Given the description of an element on the screen output the (x, y) to click on. 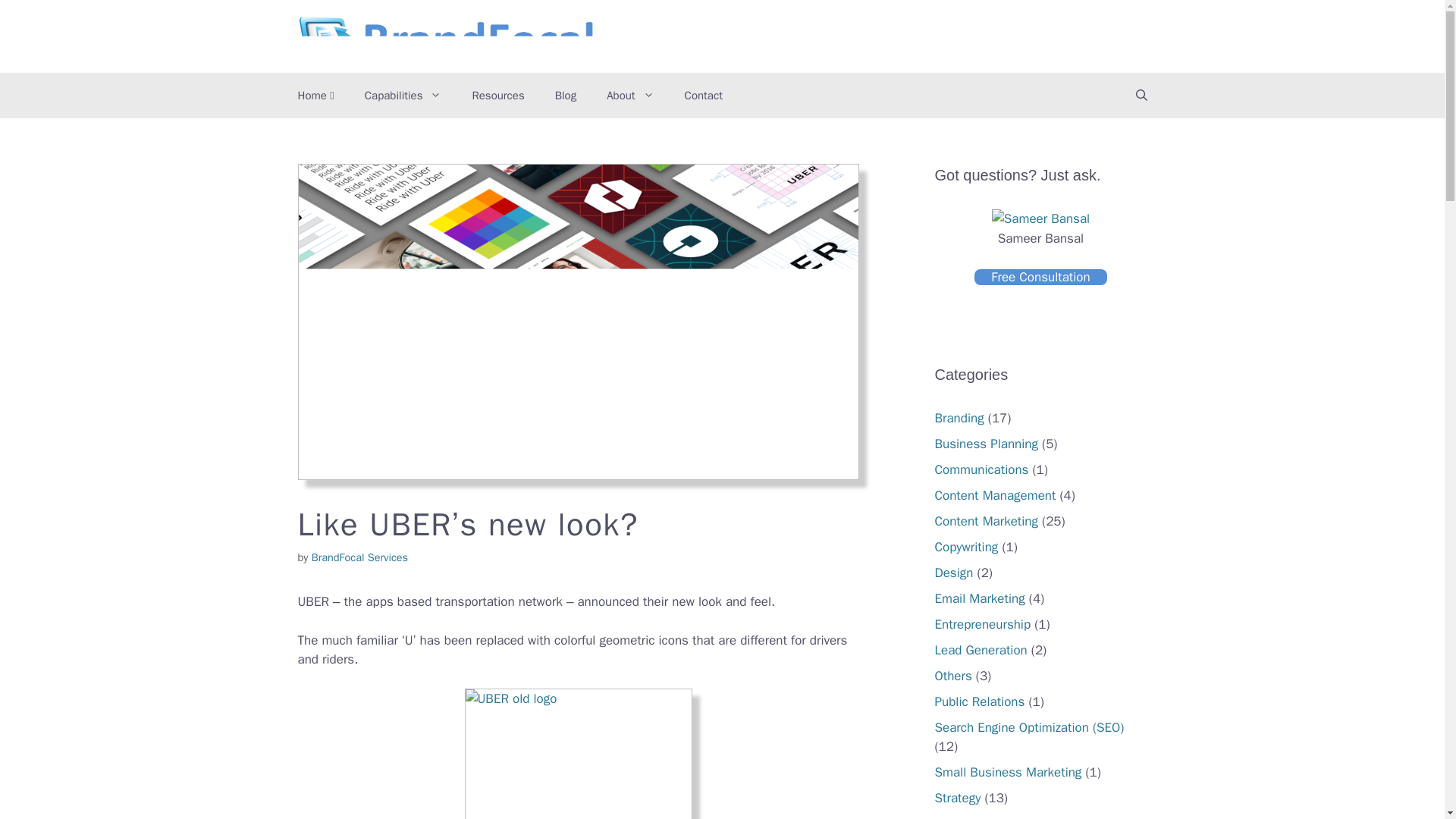
Capabilities (403, 94)
View all posts by BrandFocal Services (359, 557)
Resources (497, 94)
About (629, 94)
BrandFocal Services (359, 557)
Contact (703, 94)
Blog (565, 94)
